Given the description of an element on the screen output the (x, y) to click on. 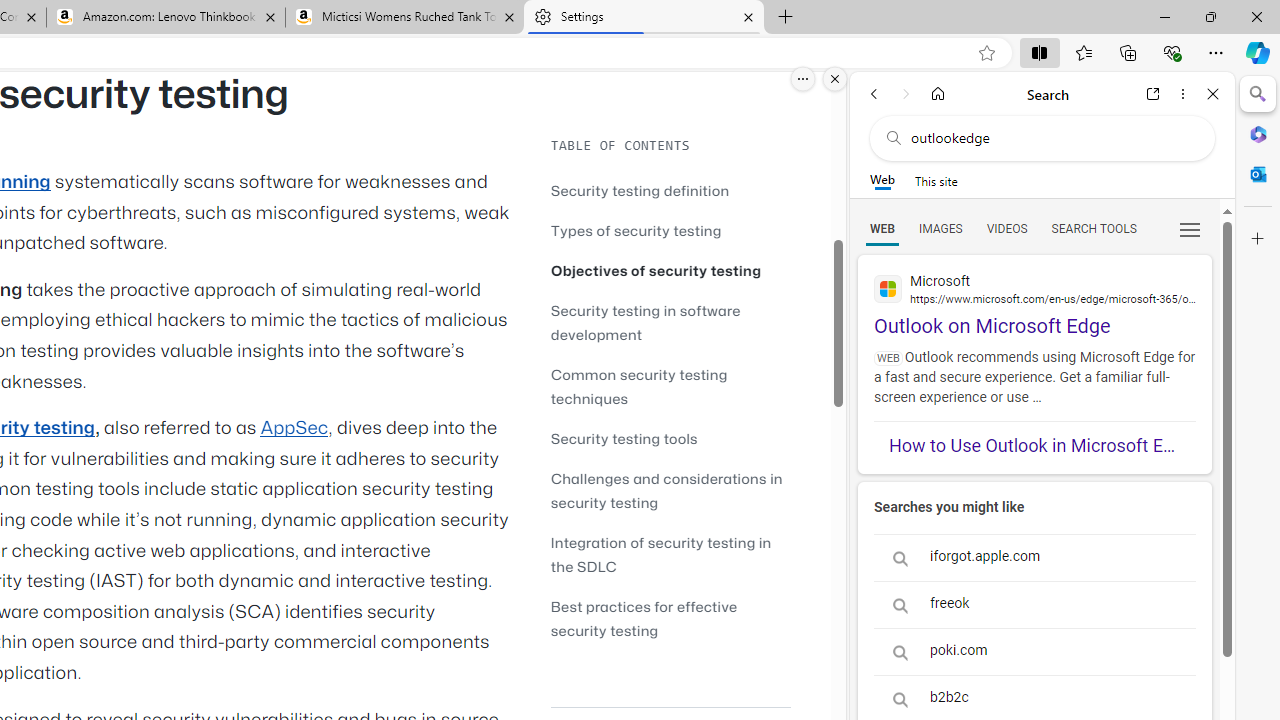
Class: b_serphb (1190, 229)
Security testing definition (670, 190)
iforgot.apple.com (1034, 557)
iforgot.apple.com (1034, 557)
Web scope (882, 180)
poki.com (1034, 651)
Challenges and considerations in security testing (666, 490)
